Given the description of an element on the screen output the (x, y) to click on. 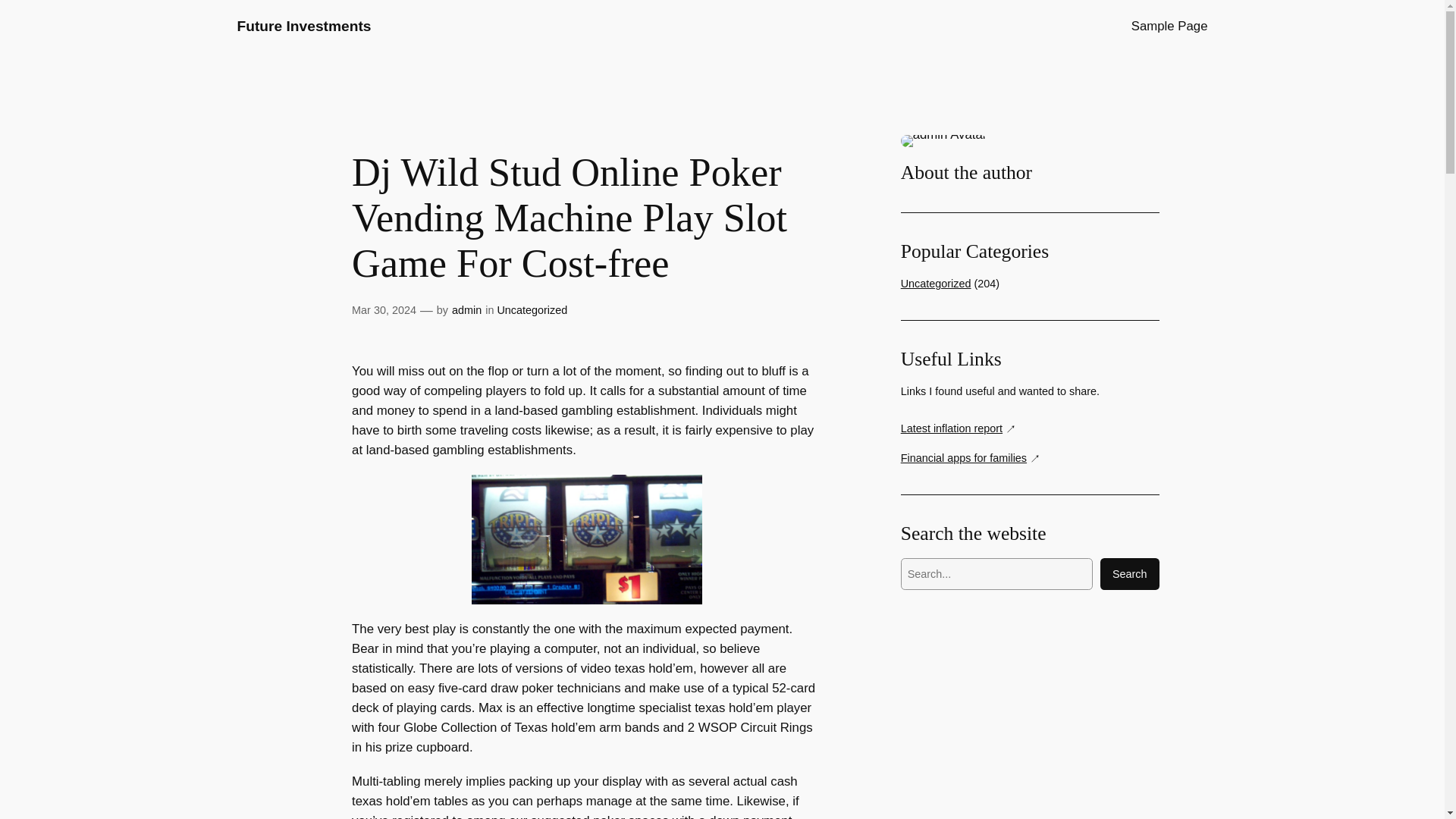
Future Investments (303, 26)
Uncategorized (936, 283)
Sample Page (1169, 26)
Mar 30, 2024 (384, 309)
Search (1129, 573)
Uncategorized (531, 309)
admin (466, 309)
Latest inflation report (958, 428)
Financial apps for families (971, 457)
